Given the description of an element on the screen output the (x, y) to click on. 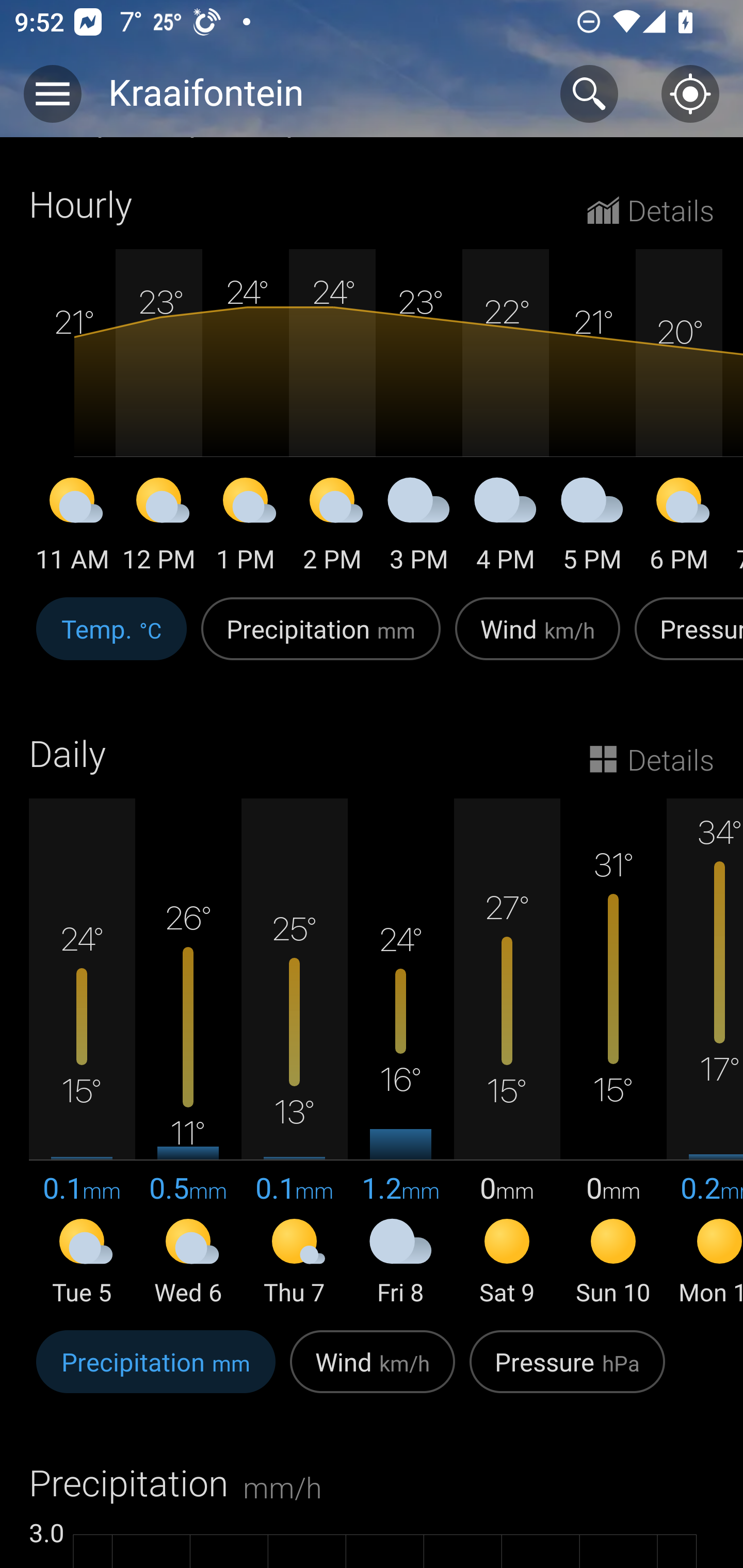
11 AM (71, 527)
12 PM (158, 527)
1 PM (245, 527)
2 PM (332, 527)
3 PM (418, 527)
4 PM (505, 527)
5 PM (592, 527)
6 PM (679, 527)
Temp. °C (110, 638)
Precipitation mm (320, 638)
Wind km/h (537, 638)
Pressure (685, 638)
24° 15° 0.1 mm Tue 5 (81, 1053)
26° 11° 0.5 mm Wed 6 (188, 1053)
25° 13° 0.1 mm Thu 7 (294, 1053)
24° 16° 1.2 mm Fri 8 (400, 1053)
27° 15° 0 mm Sat 9 (506, 1053)
31° 15° 0 mm Sun 10 (613, 1053)
34° 17° 0.2 mm Mon 11 (704, 1053)
Precipitation mm (155, 1372)
Wind km/h (372, 1372)
Pressure hPa (567, 1372)
